Given the description of an element on the screen output the (x, y) to click on. 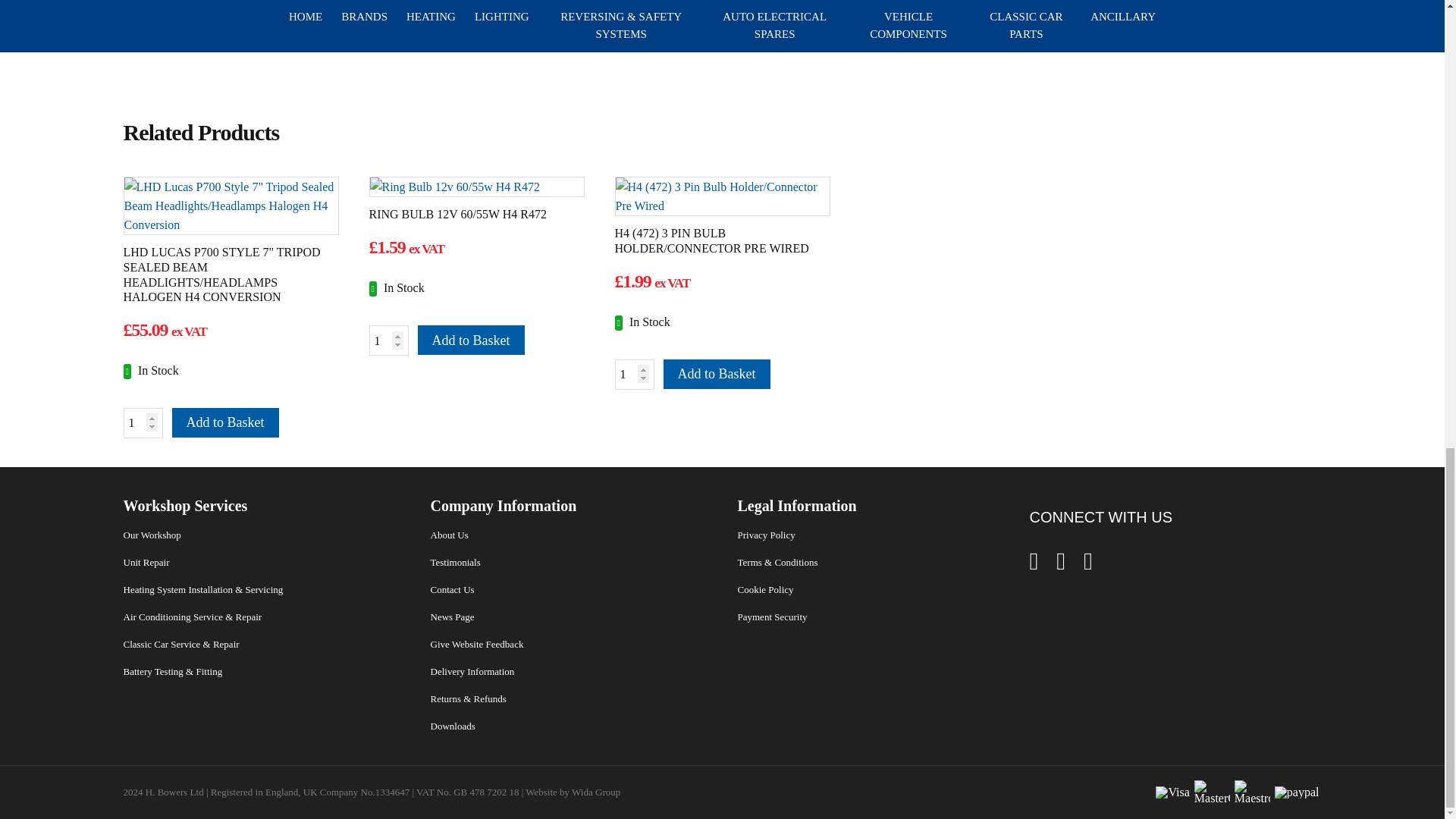
1 (633, 374)
1 (387, 340)
1 (141, 422)
